Given the description of an element on the screen output the (x, y) to click on. 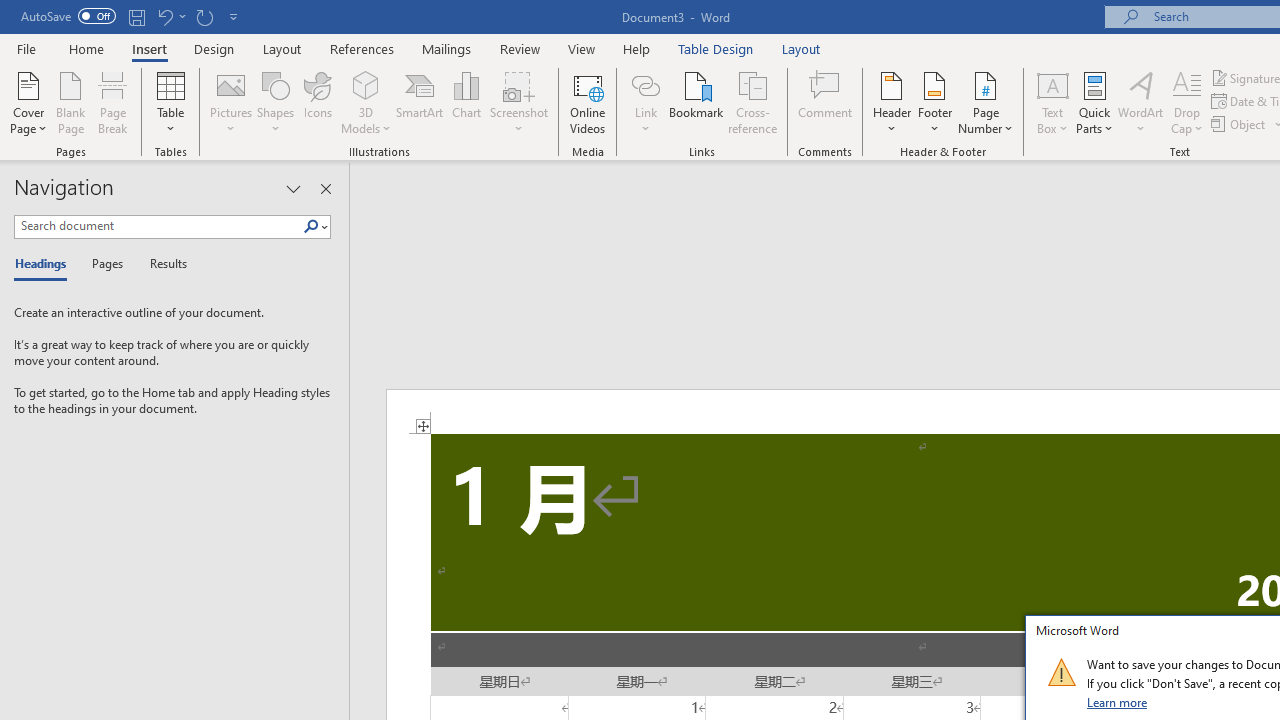
Link (645, 84)
3D Models (366, 102)
Object... (1240, 124)
Online Videos... (588, 102)
Icons (317, 102)
Blank Page (70, 102)
Pictures (230, 102)
